Given the description of an element on the screen output the (x, y) to click on. 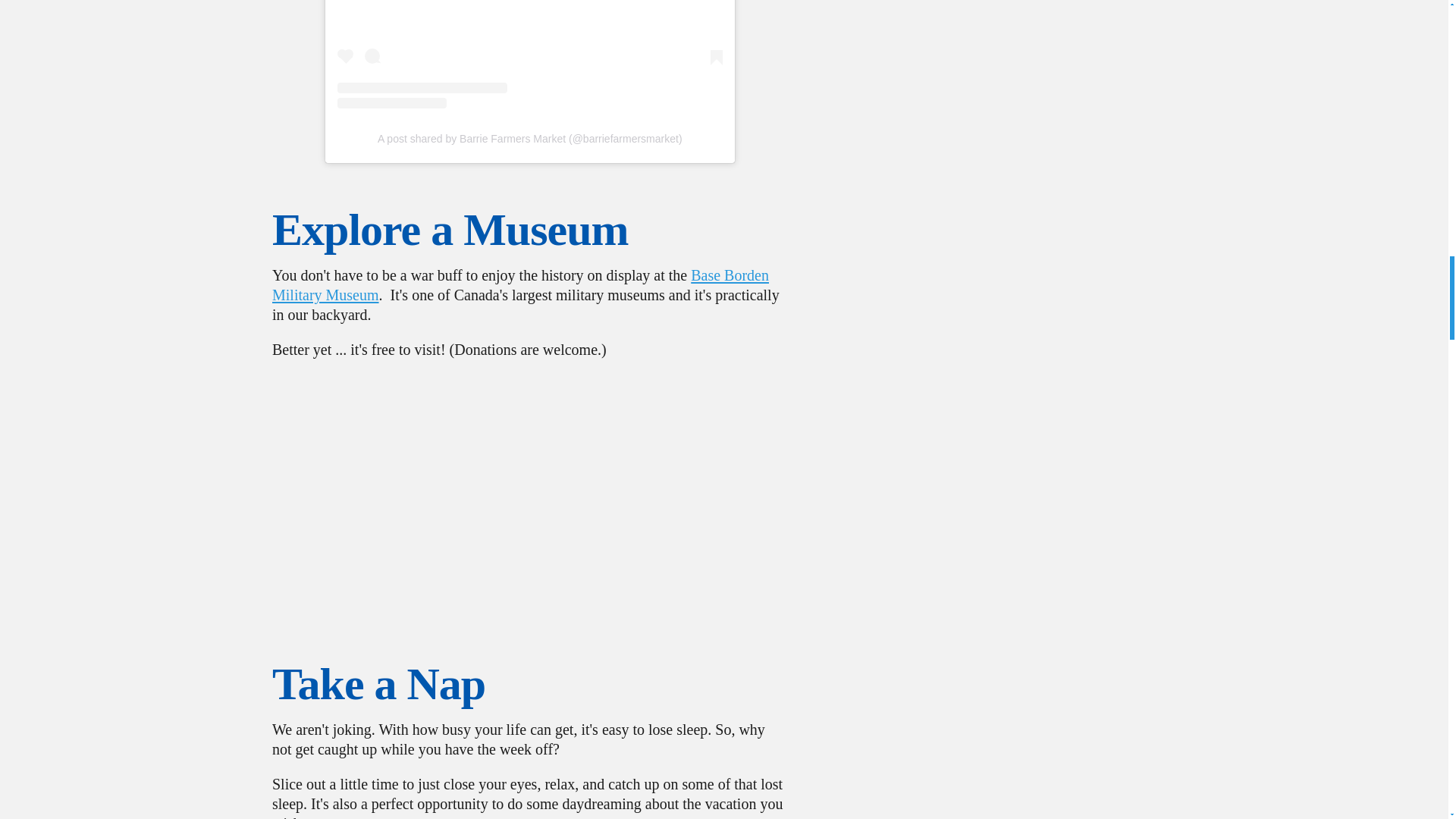
YouTube video player (529, 493)
